Given the description of an element on the screen output the (x, y) to click on. 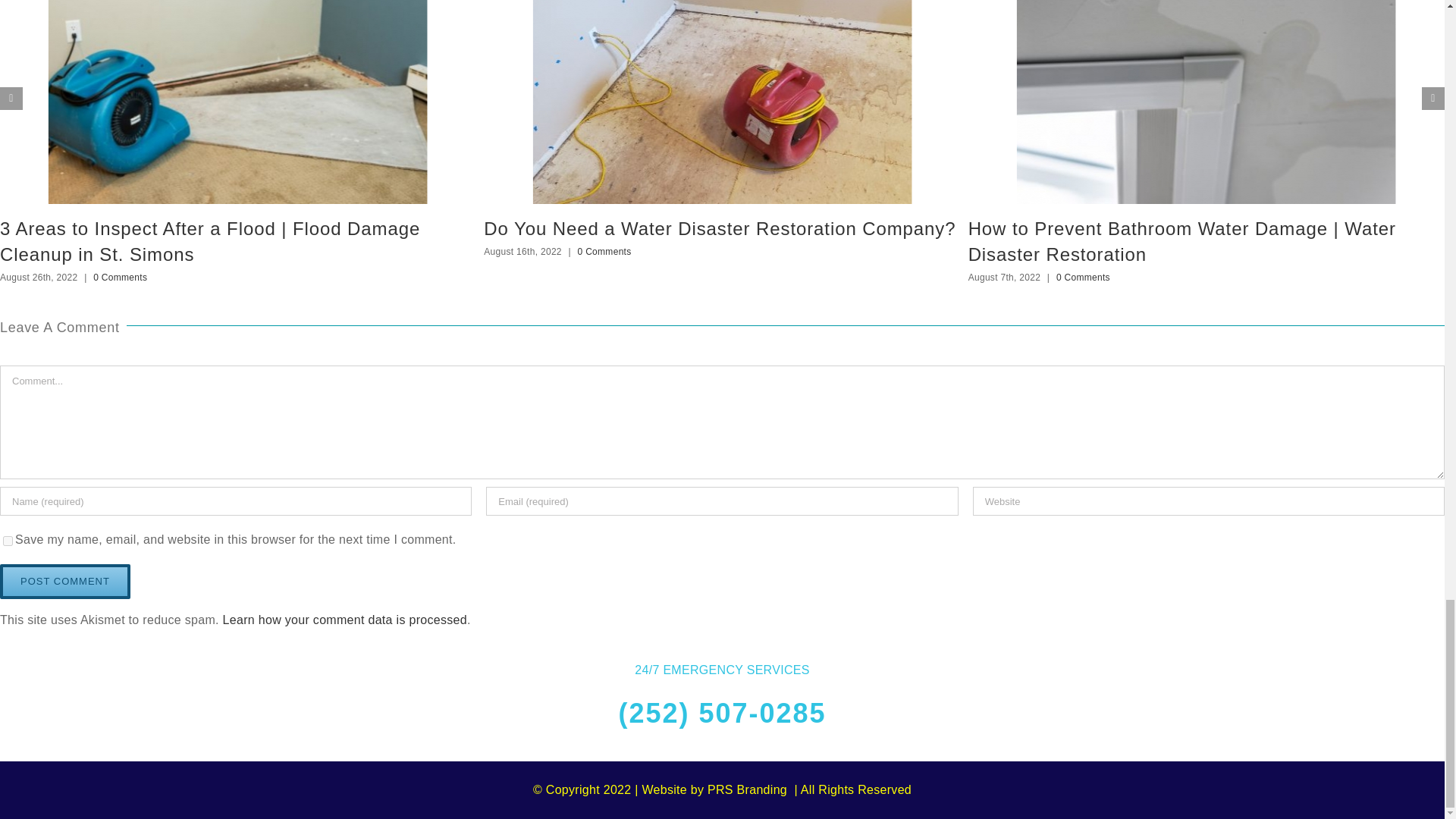
Post Comment (65, 581)
Do You Need a Water Disaster Restoration Company? (719, 228)
yes (7, 541)
